Given the description of an element on the screen output the (x, y) to click on. 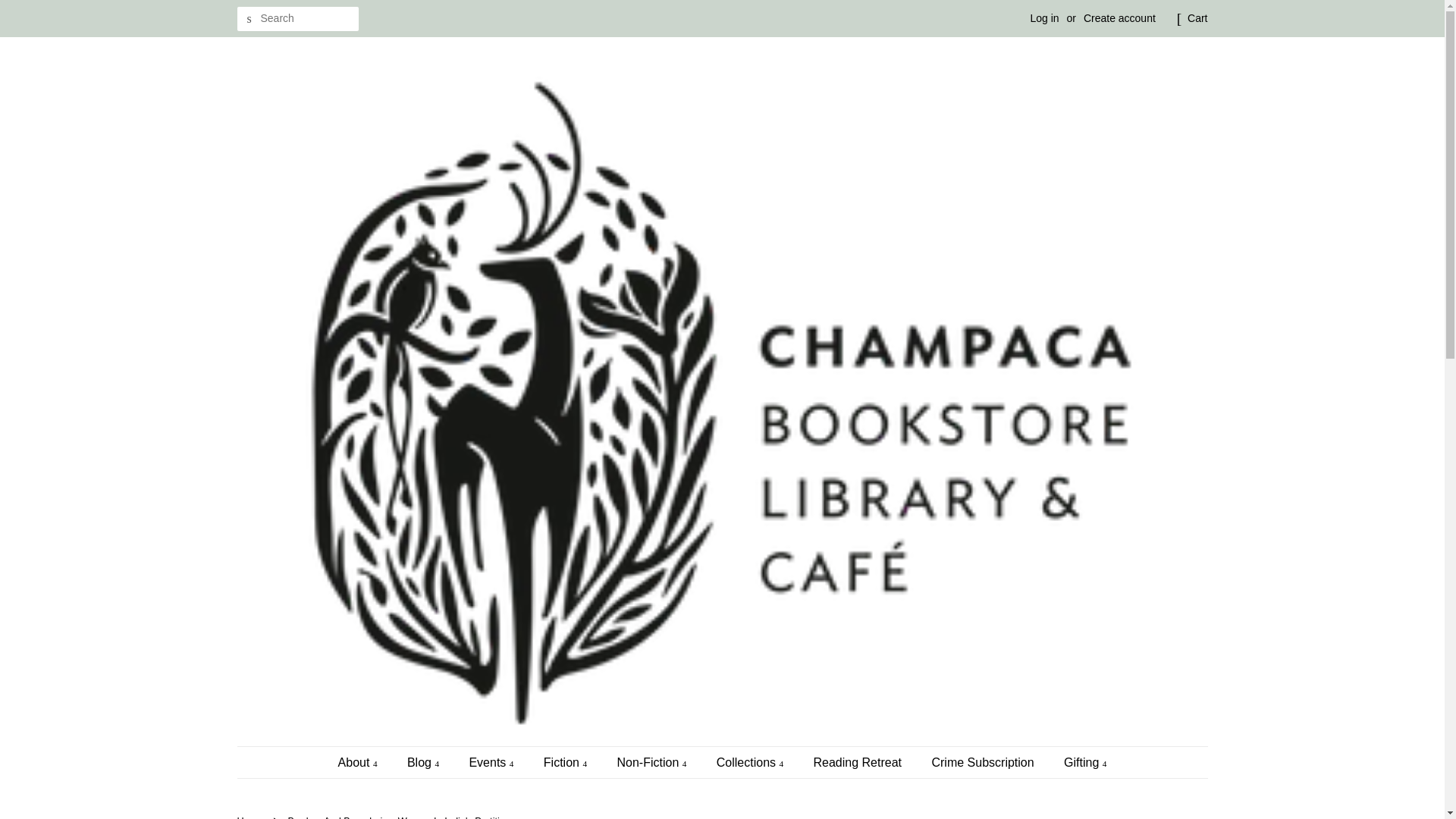
Create account (1119, 18)
Search (247, 18)
Log in (1043, 18)
Cart (1197, 18)
Back to the frontpage (250, 816)
